Given the description of an element on the screen output the (x, y) to click on. 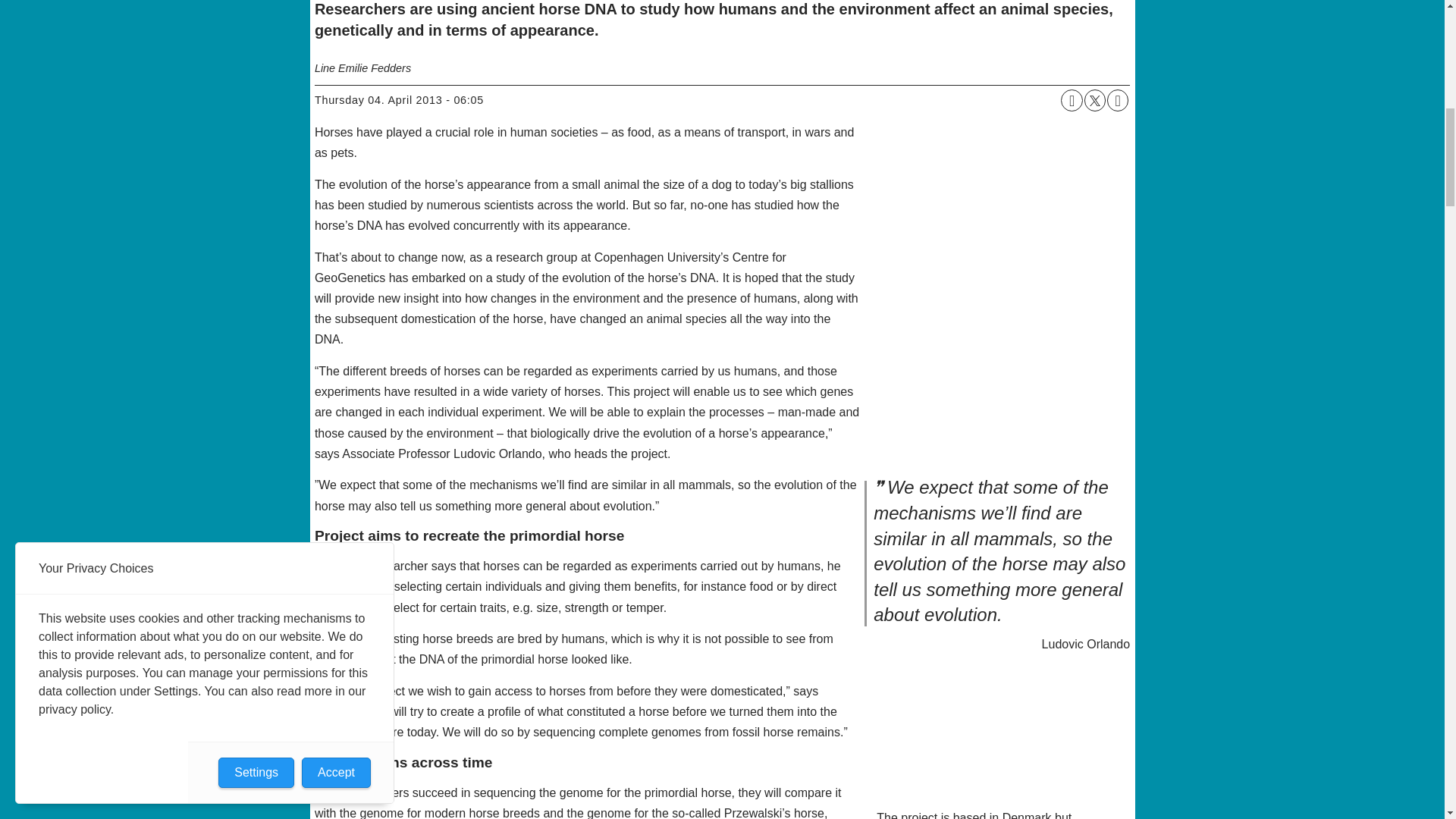
 thursday 04. April 2013 - 06:05 (398, 100)
